Given the description of an element on the screen output the (x, y) to click on. 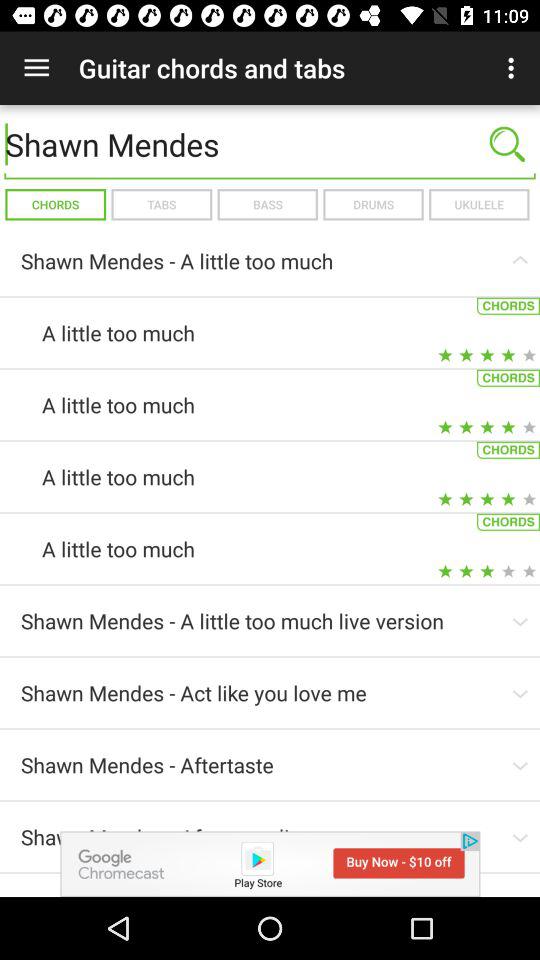
launch the ukulele item (478, 204)
